Given the description of an element on the screen output the (x, y) to click on. 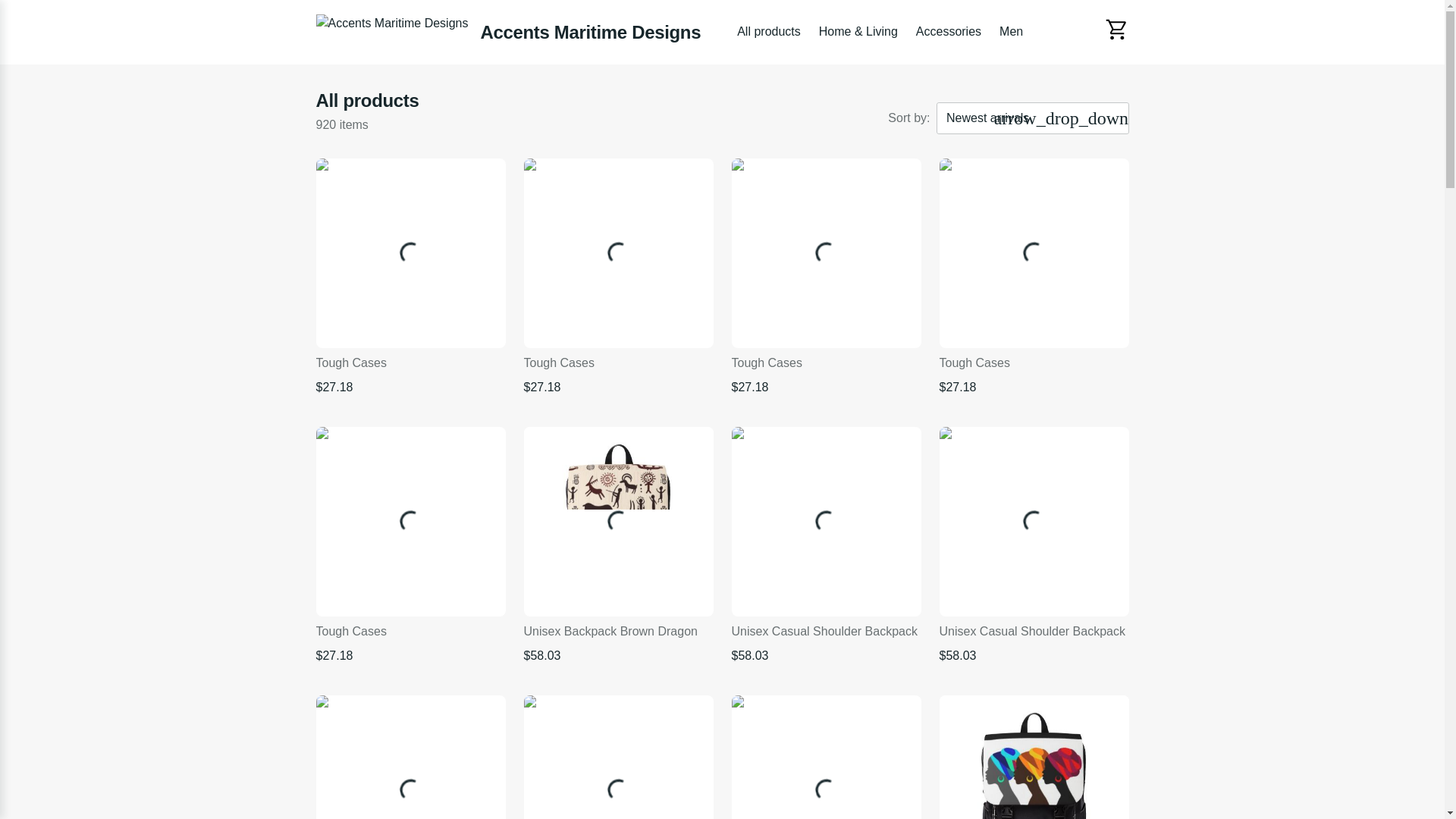
Accents Maritime Designs (507, 31)
All products (768, 31)
Men (1010, 31)
Unisex Casual Shoulder Backpack (825, 757)
Tough Cases (410, 521)
Tough Cases (410, 253)
Tough Cases (1033, 253)
Backpack (1033, 757)
Unisex Casual Shoulder Backpack (617, 757)
Accessories (948, 31)
Unisex Casual Shoulder Backpack (410, 757)
Unisex Casual Shoulder Backpack (825, 521)
Tough Cases (617, 253)
Newest arrivals (1032, 118)
Unisex Backpack Brown Dragon (617, 521)
